Given the description of an element on the screen output the (x, y) to click on. 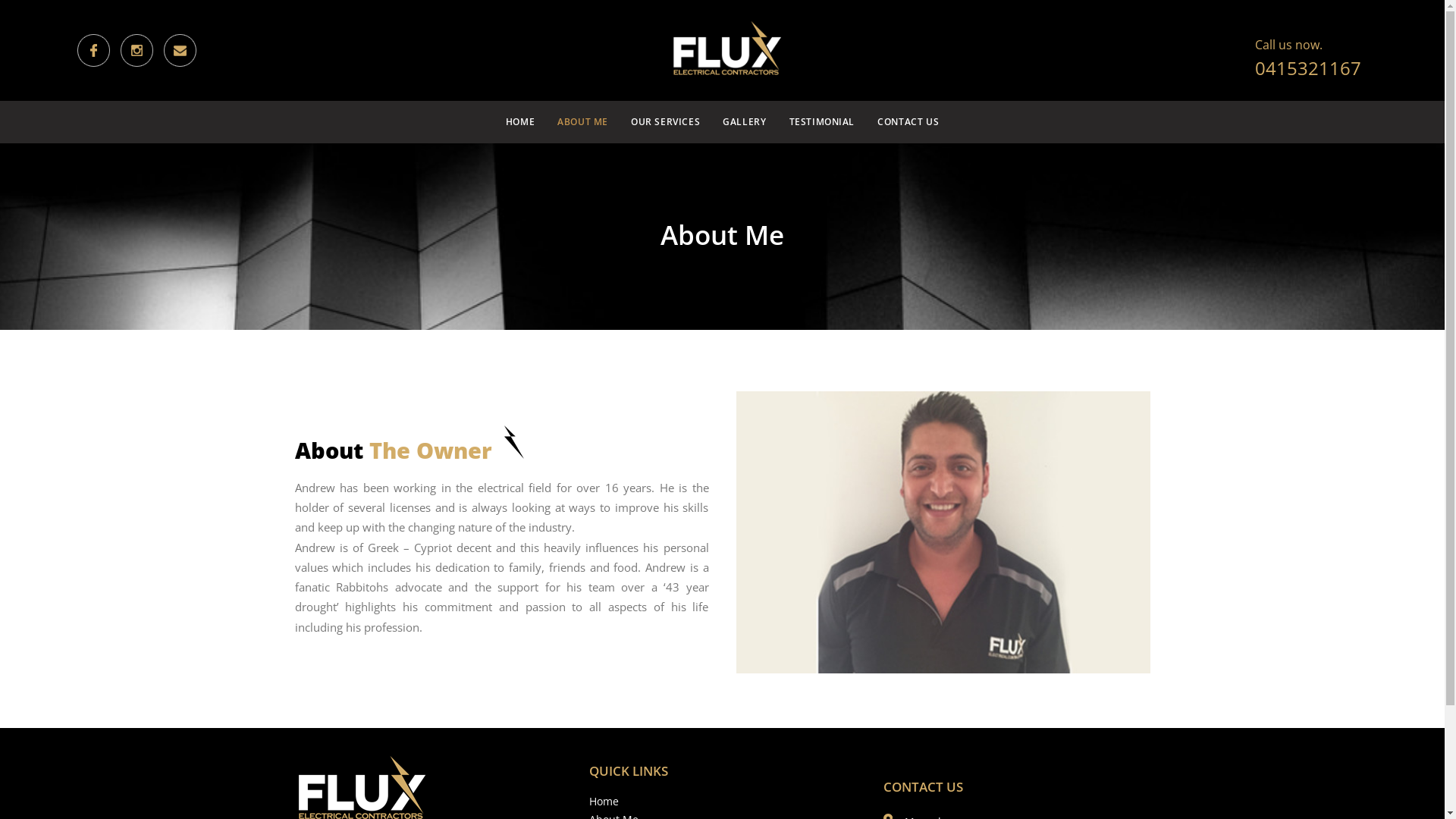
HOME Element type: text (524, 121)
0415321167 Element type: text (1307, 67)
OUR SERVICES Element type: text (665, 121)
CONTACT US Element type: text (902, 121)
TESTIMONIAL Element type: text (822, 121)
Home Element type: text (603, 800)
ABOUT ME Element type: text (582, 121)
GALLERY Element type: text (743, 121)
